Given the description of an element on the screen output the (x, y) to click on. 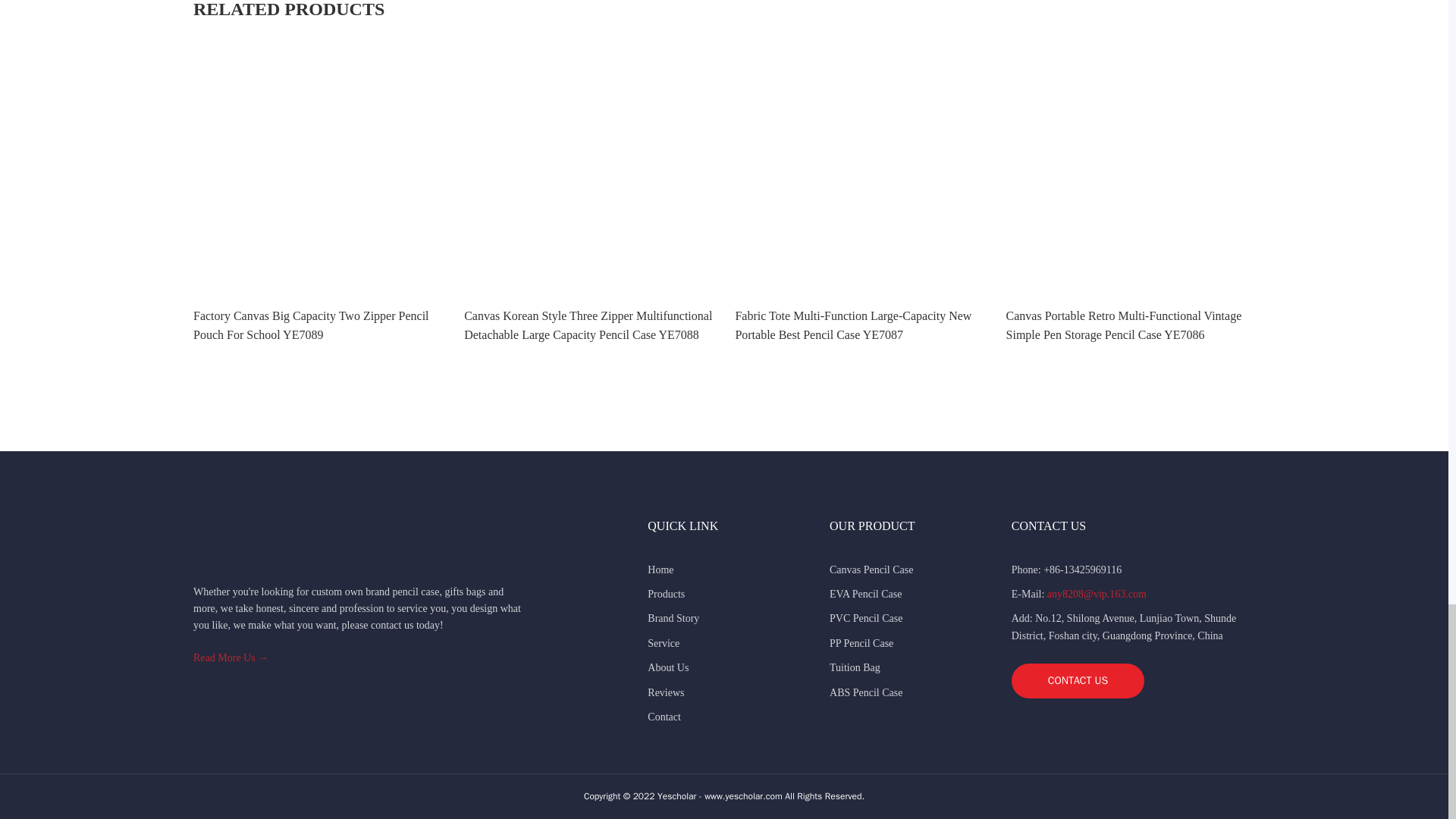
Home (659, 569)
